Given the description of an element on the screen output the (x, y) to click on. 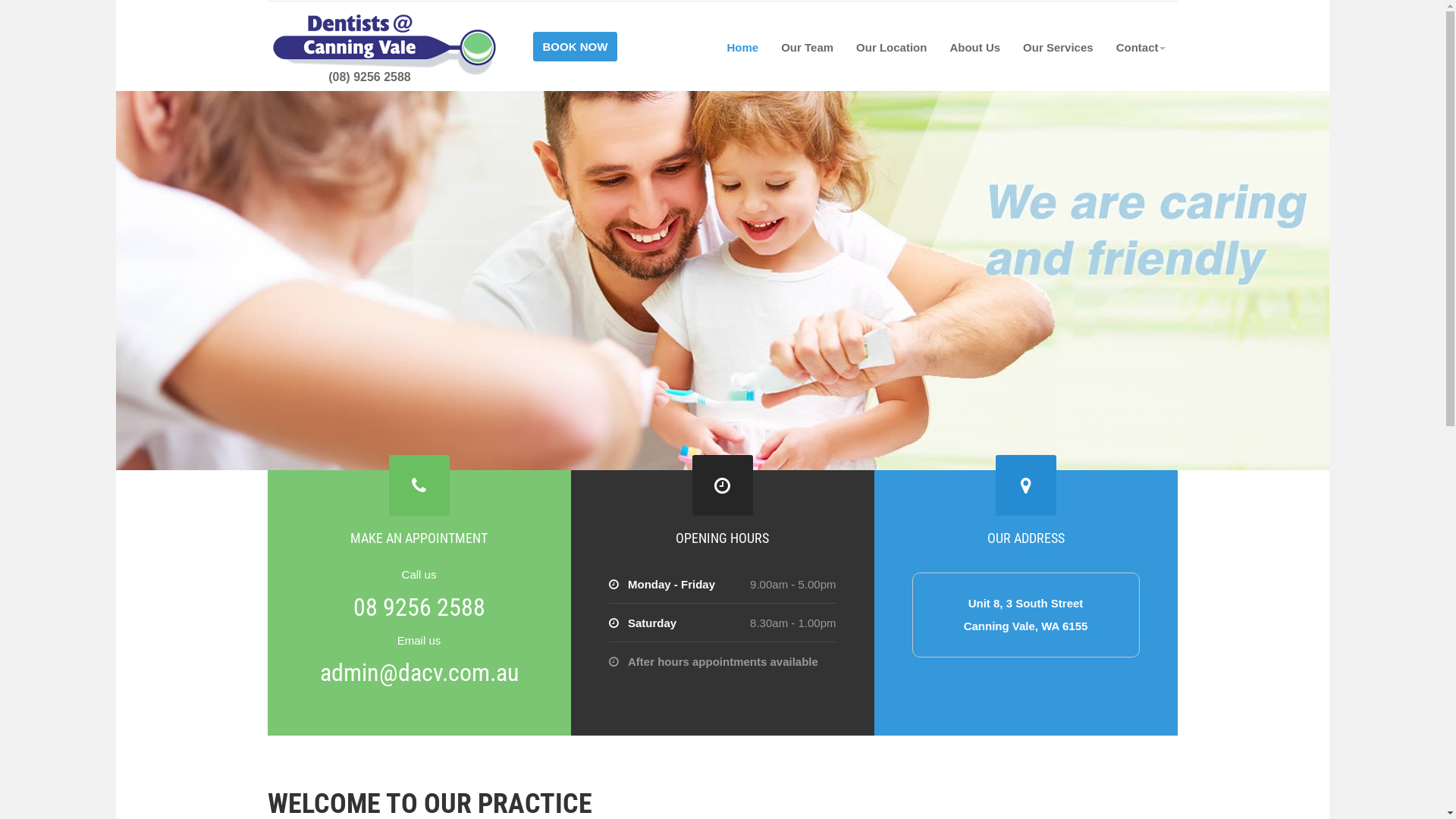
About Us Element type: text (974, 46)
Our Team Element type: text (806, 46)
BOOK NOW Element type: text (574, 43)
Our Services Element type: text (1057, 46)
Our Location Element type: text (891, 46)
Home Element type: text (742, 46)
Contact Element type: text (1140, 46)
